Given the description of an element on the screen output the (x, y) to click on. 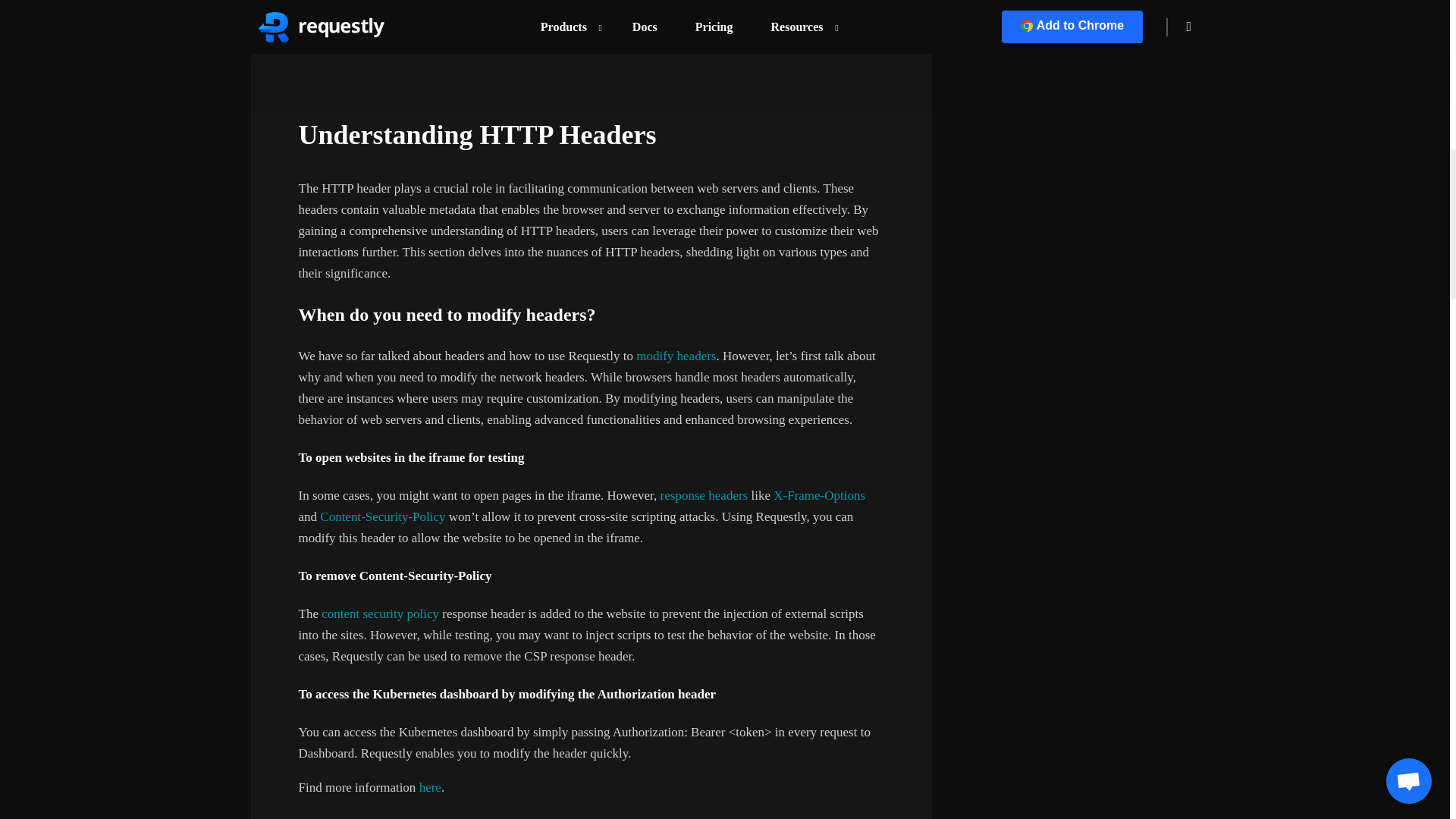
content security policy (380, 613)
modify headers (676, 355)
X-Frame-Options (817, 495)
response headers (704, 495)
Content-Security-Policy (381, 516)
here (427, 787)
